Given the description of an element on the screen output the (x, y) to click on. 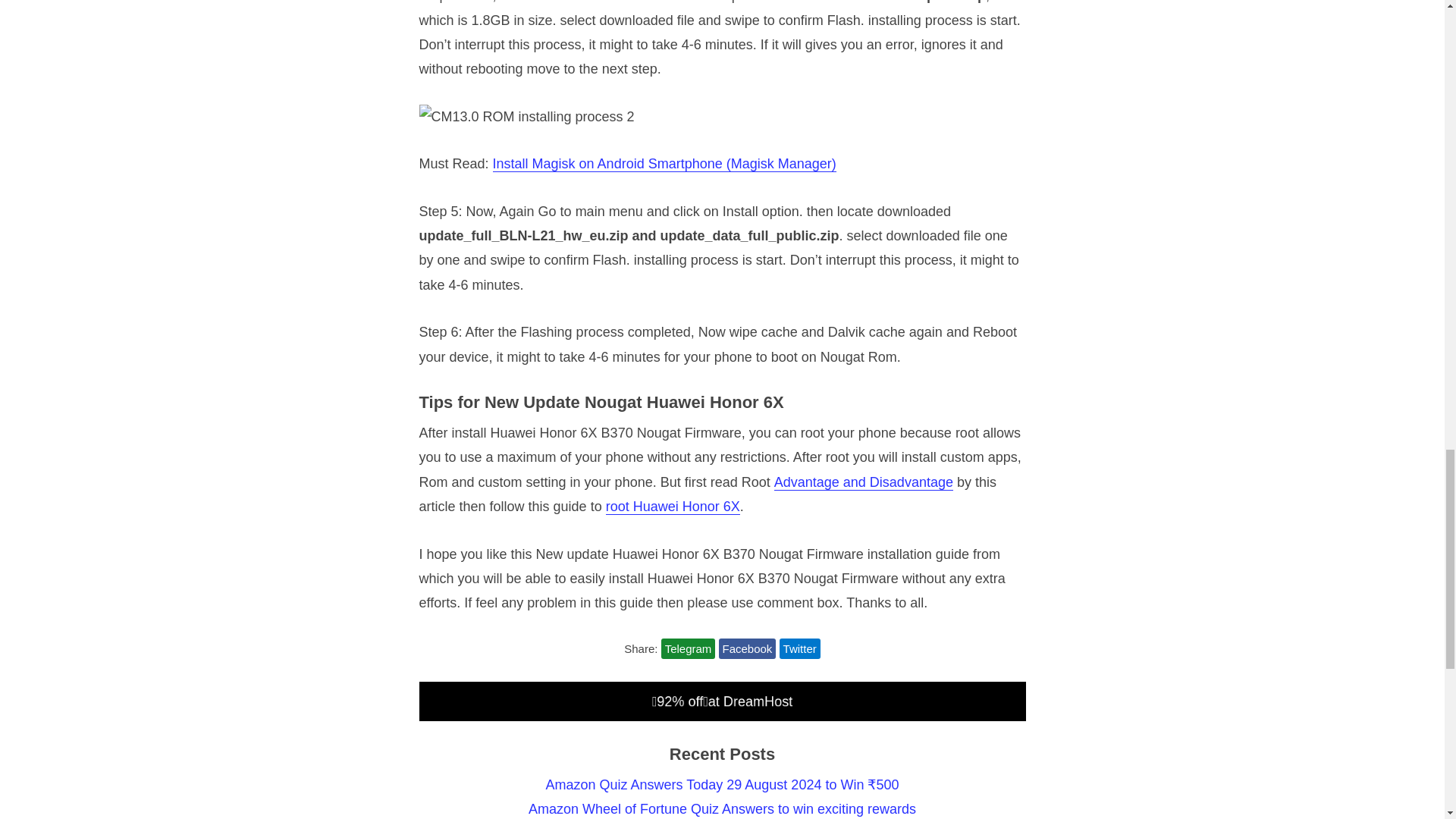
CM13.0 ROM installing process 2 (526, 116)
Share on Telegram (688, 648)
root Huawei Honor 6X (672, 506)
Facebook (747, 648)
Telegram (688, 648)
Amazon Wheel of Fortune Quiz Answers to win exciting rewards (721, 808)
Twitter (799, 648)
Tweet on Twitter (799, 648)
Advantage and Disadvantage (863, 482)
Share on Facebook (747, 648)
